Given the description of an element on the screen output the (x, y) to click on. 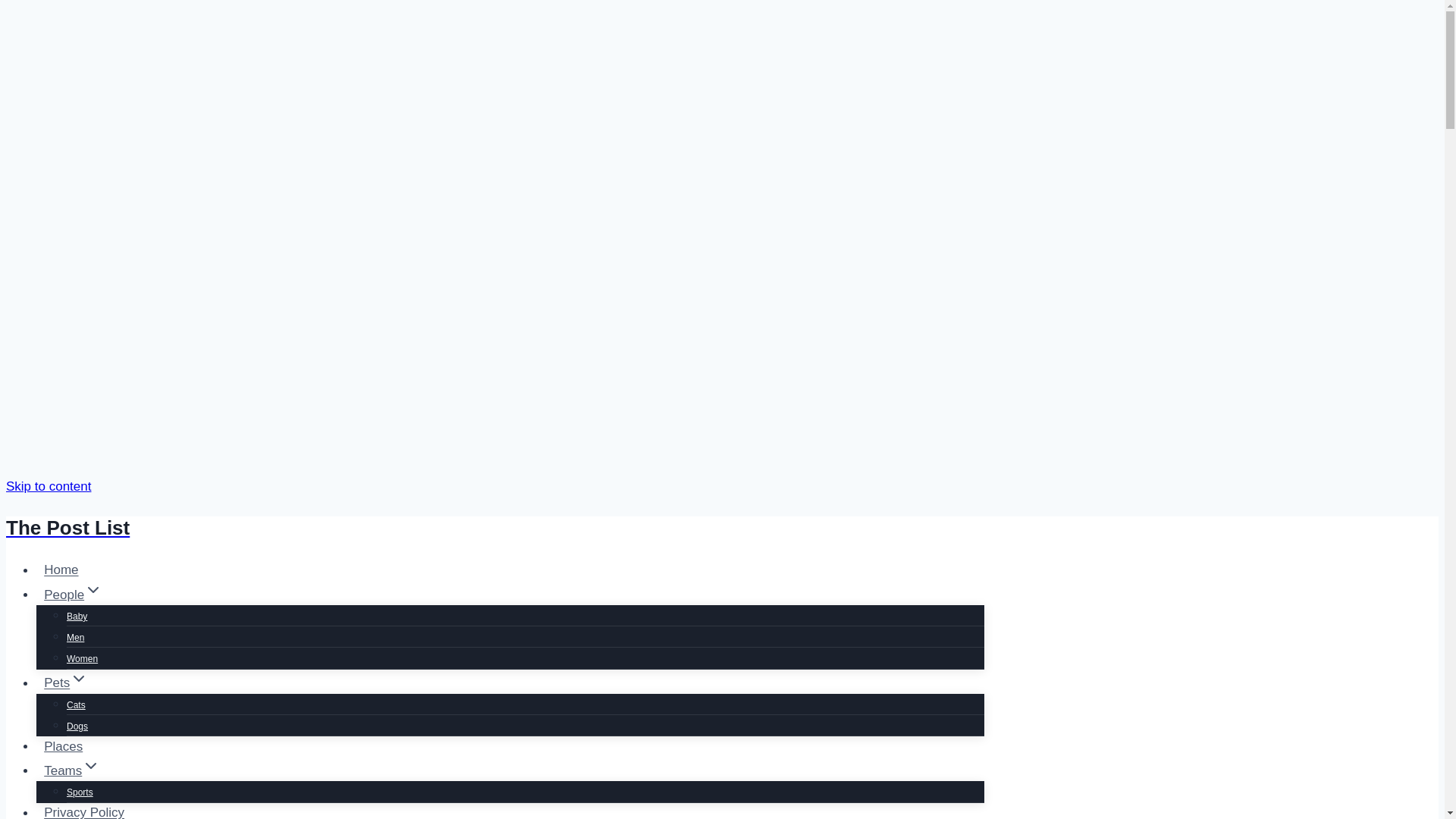
Expand (90, 765)
The Post List (494, 527)
PeopleExpand (73, 594)
Privacy Policy (84, 808)
TeamsExpand (71, 770)
Expand (78, 678)
Women (81, 658)
Skip to content (47, 486)
Home (60, 569)
PetsExpand (66, 682)
